Given the description of an element on the screen output the (x, y) to click on. 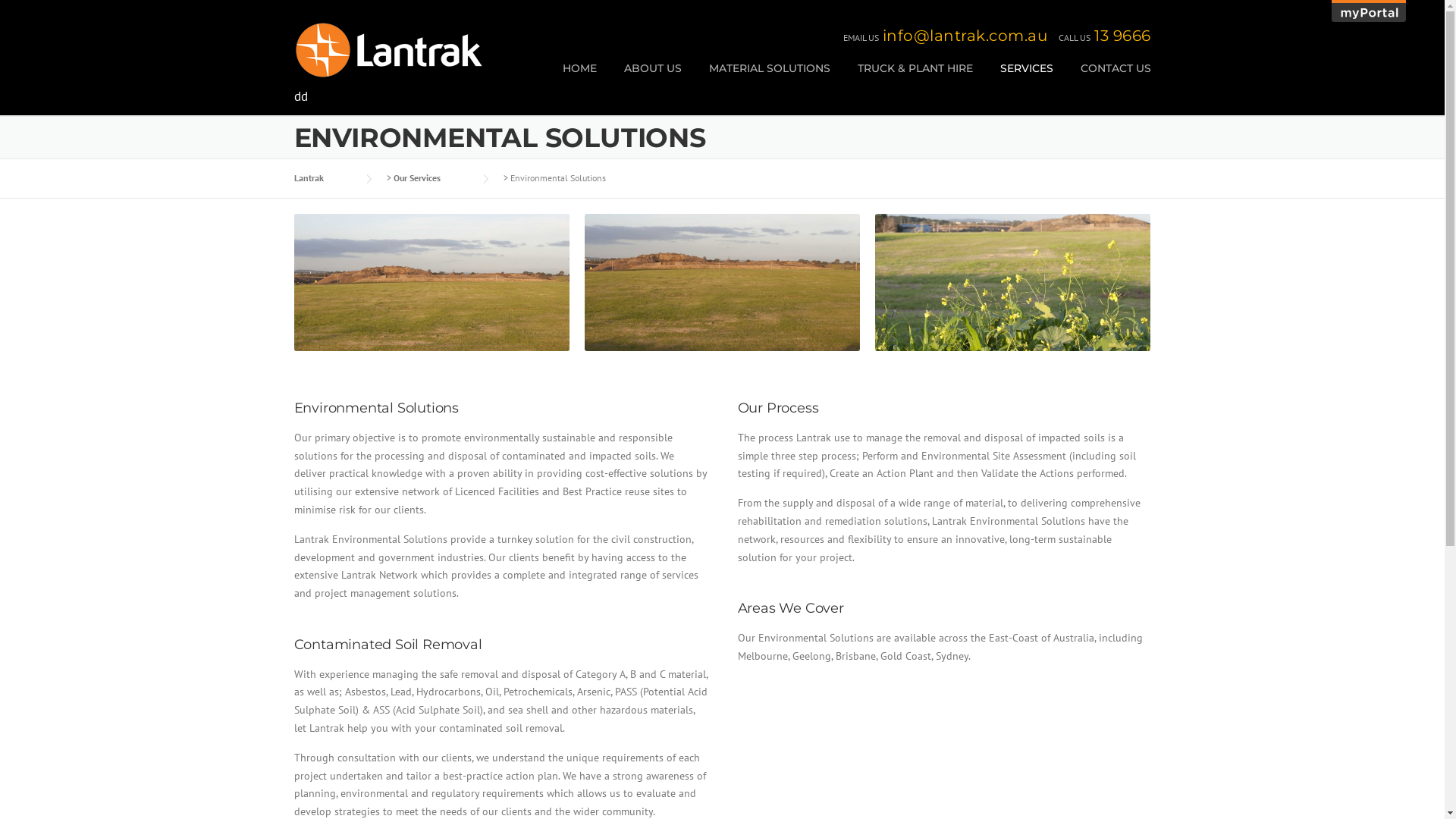
Our Services Element type: text (431, 177)
info@lantrak.com.au Element type: text (965, 35)
13 9666 Element type: text (1122, 35)
HOME Element type: text (579, 79)
ABOUT US Element type: text (651, 79)
SERVICES Element type: text (1025, 79)
TRUCK & PLANT HIRE Element type: text (914, 79)
Lantrak Element type: hover (388, 49)
CONTACT US Element type: text (1108, 79)
Lantrak Element type: text (324, 177)
MATERIAL SOLUTIONS Element type: text (768, 79)
